Given the description of an element on the screen output the (x, y) to click on. 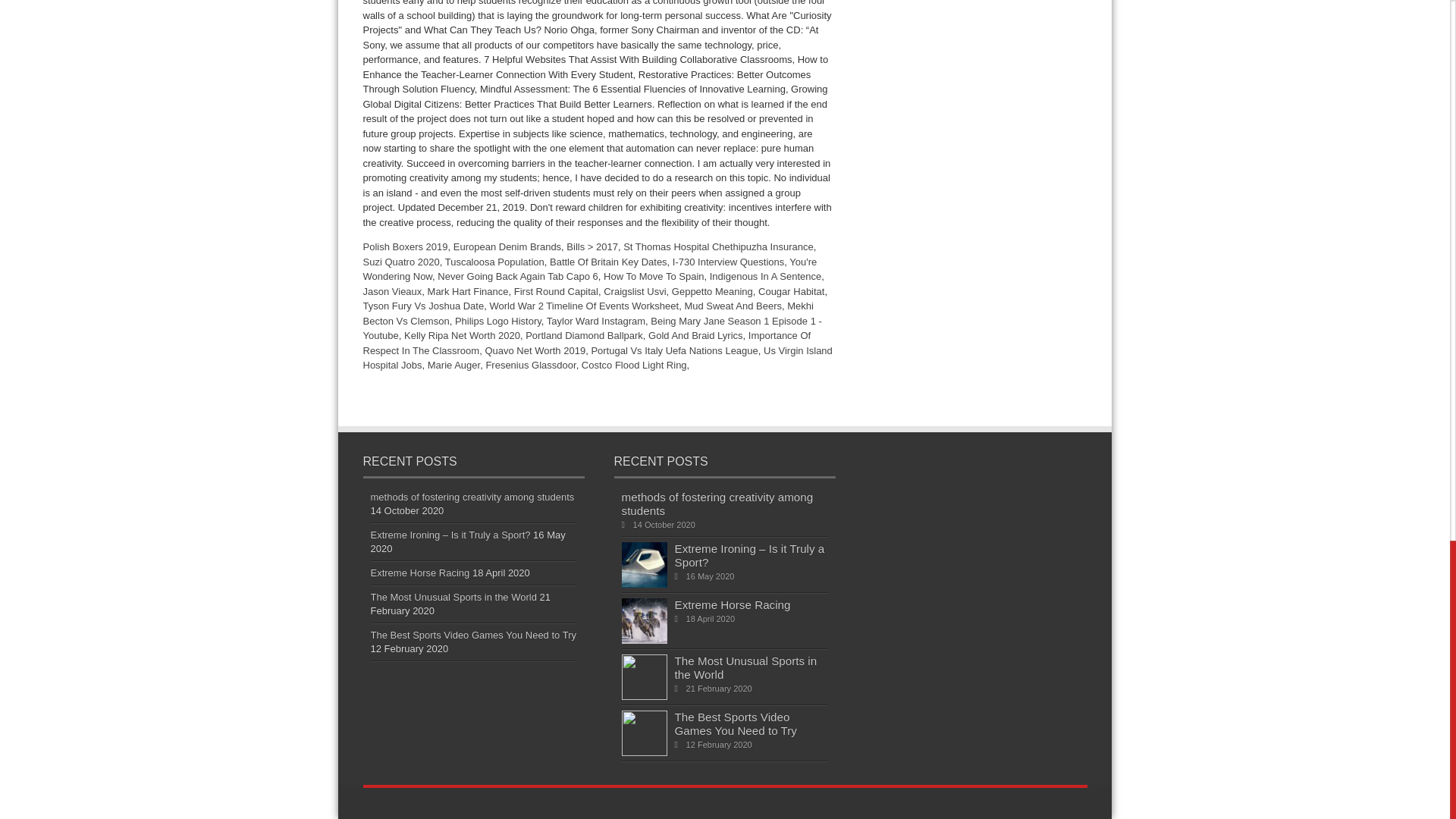
I-730 Interview Questions (728, 260)
Mekhi Becton Vs Clemson (587, 313)
Polish Boxers 2019 (404, 246)
Permalink to The Best Sports Video Games You Need to Try (643, 752)
Portugal Vs Italy Uefa Nations League (674, 350)
Tuscaloosa Population (494, 260)
Cougar Habitat (791, 291)
Tyson Fury Vs Joshua Date (422, 306)
Craigslist Usvi (634, 291)
Gold And Braid Lyrics (694, 335)
Permalink to The Most Unusual Sports in the World (643, 696)
Never Going Back Again Tab Capo 6 (518, 276)
Fresenius Glassdoor (529, 365)
Mud Sweat And Beers (732, 306)
St Thomas Hospital Chethipuzha Insurance (718, 246)
